Given the description of an element on the screen output the (x, y) to click on. 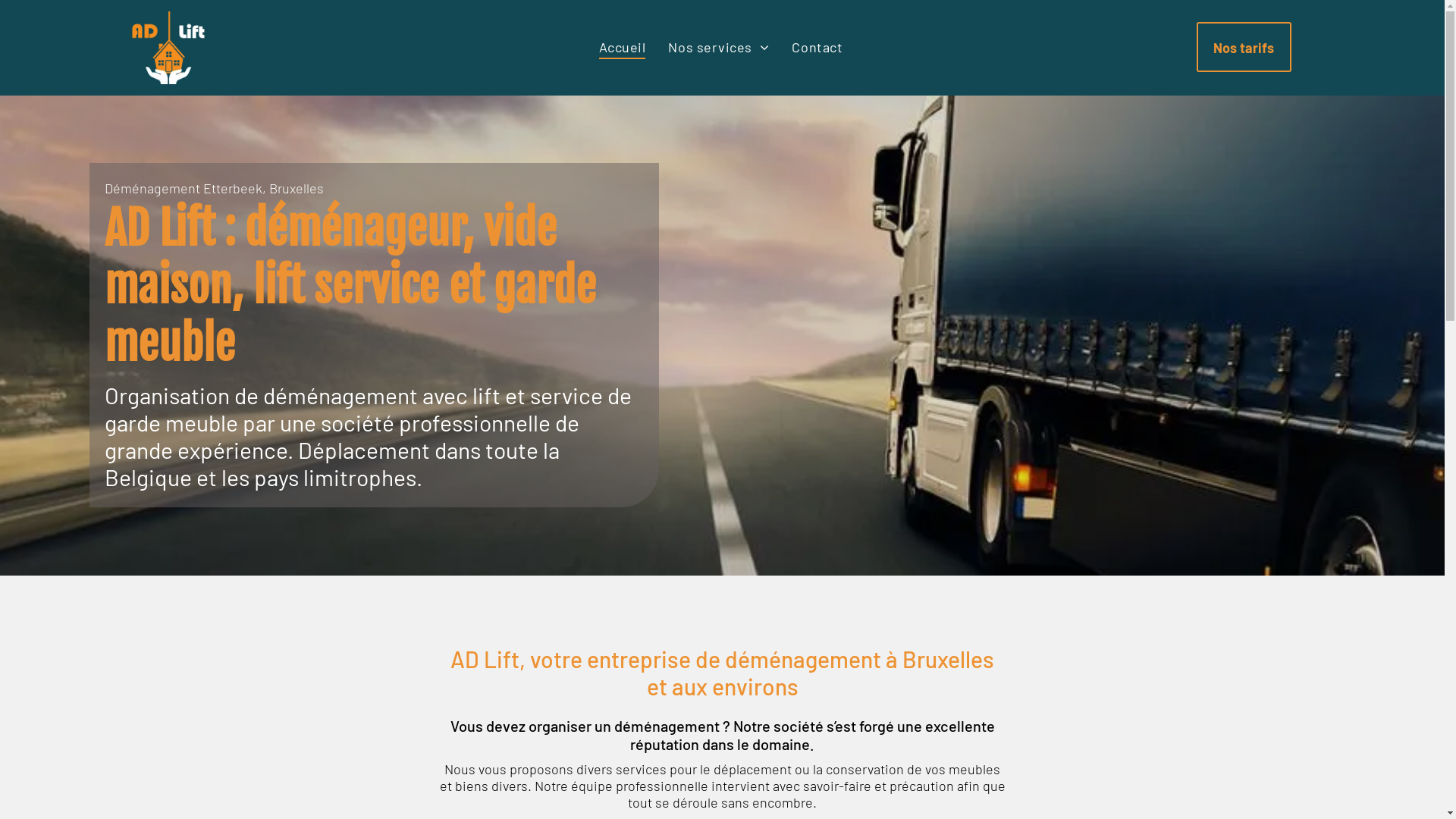
Contact Element type: text (816, 46)
Nos services Element type: text (718, 46)
Nos tarifs Element type: text (1243, 46)
Accueil Element type: text (622, 46)
